Given the description of an element on the screen output the (x, y) to click on. 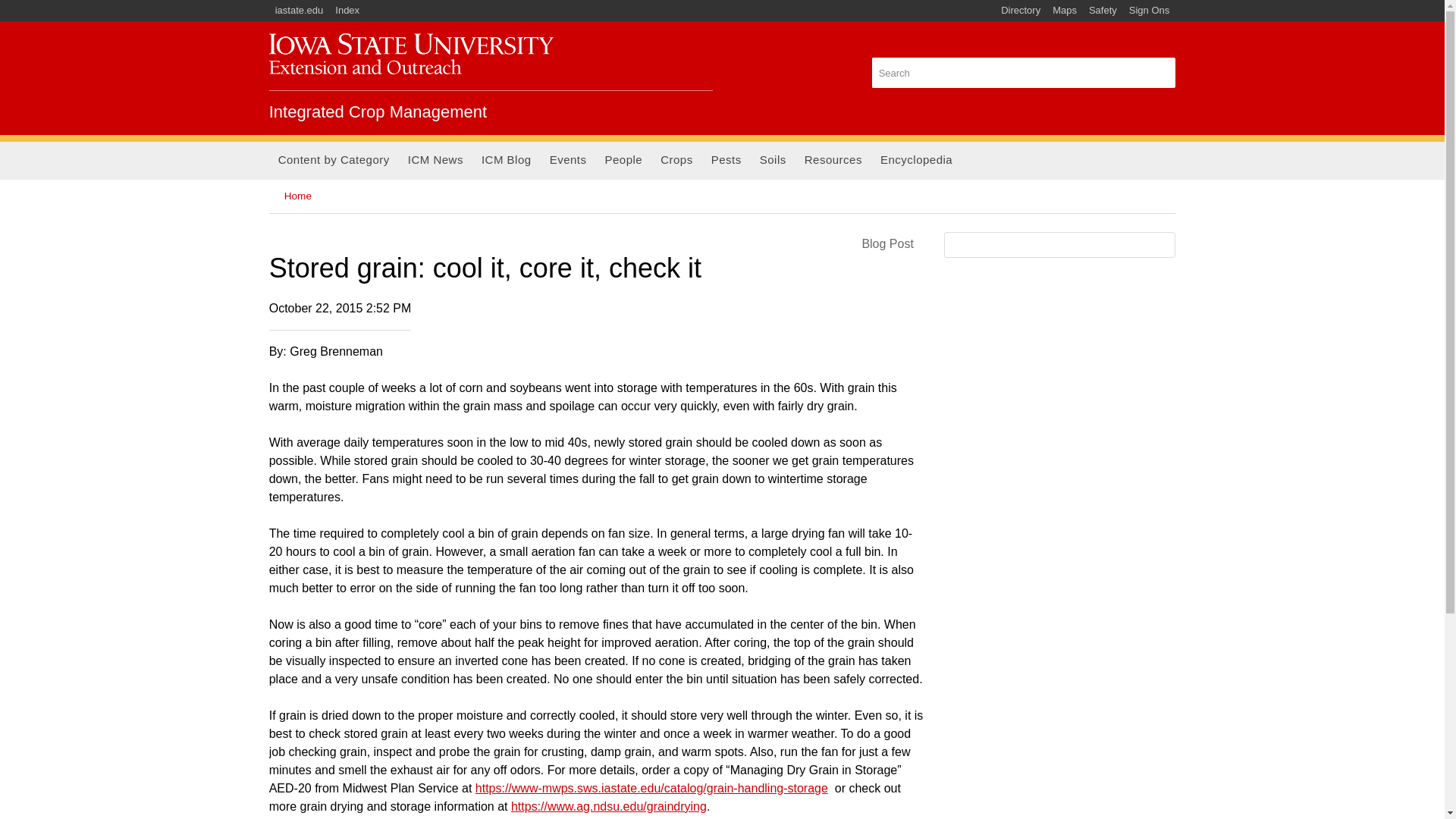
Sign Ons (1148, 10)
Directory (1020, 10)
Integrated Crop Management (411, 53)
Integrated Crop Management (377, 111)
Safety (1102, 10)
Iowa State University Home Page (299, 10)
Skip to main content (685, 1)
Index (347, 10)
Content by Category (333, 160)
